Given the description of an element on the screen output the (x, y) to click on. 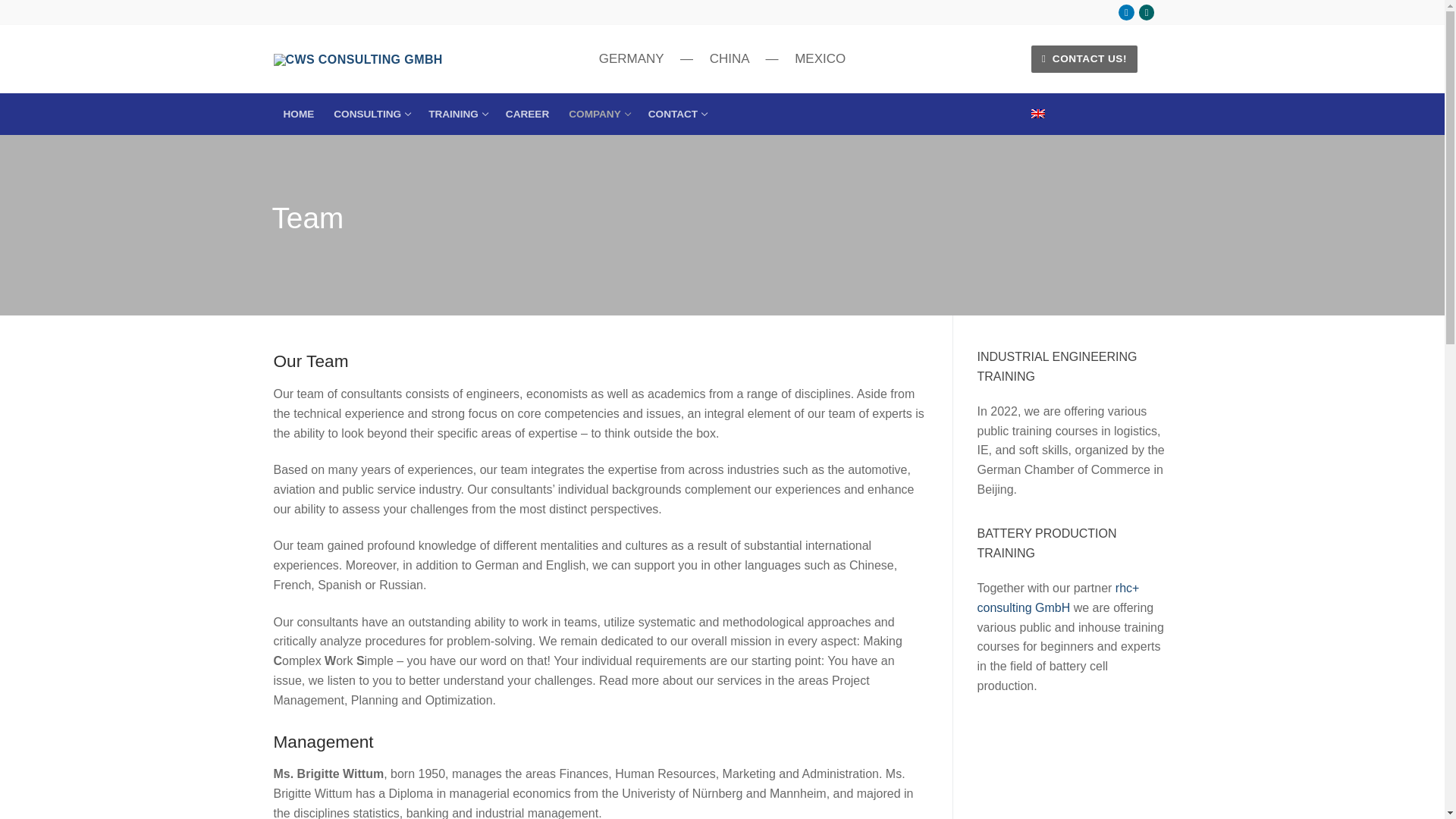
English (1039, 112)
CAREER (598, 113)
LinkedIn (527, 113)
Xing (457, 113)
HOME (1126, 12)
CONTACT US! (1146, 12)
